Given the description of an element on the screen output the (x, y) to click on. 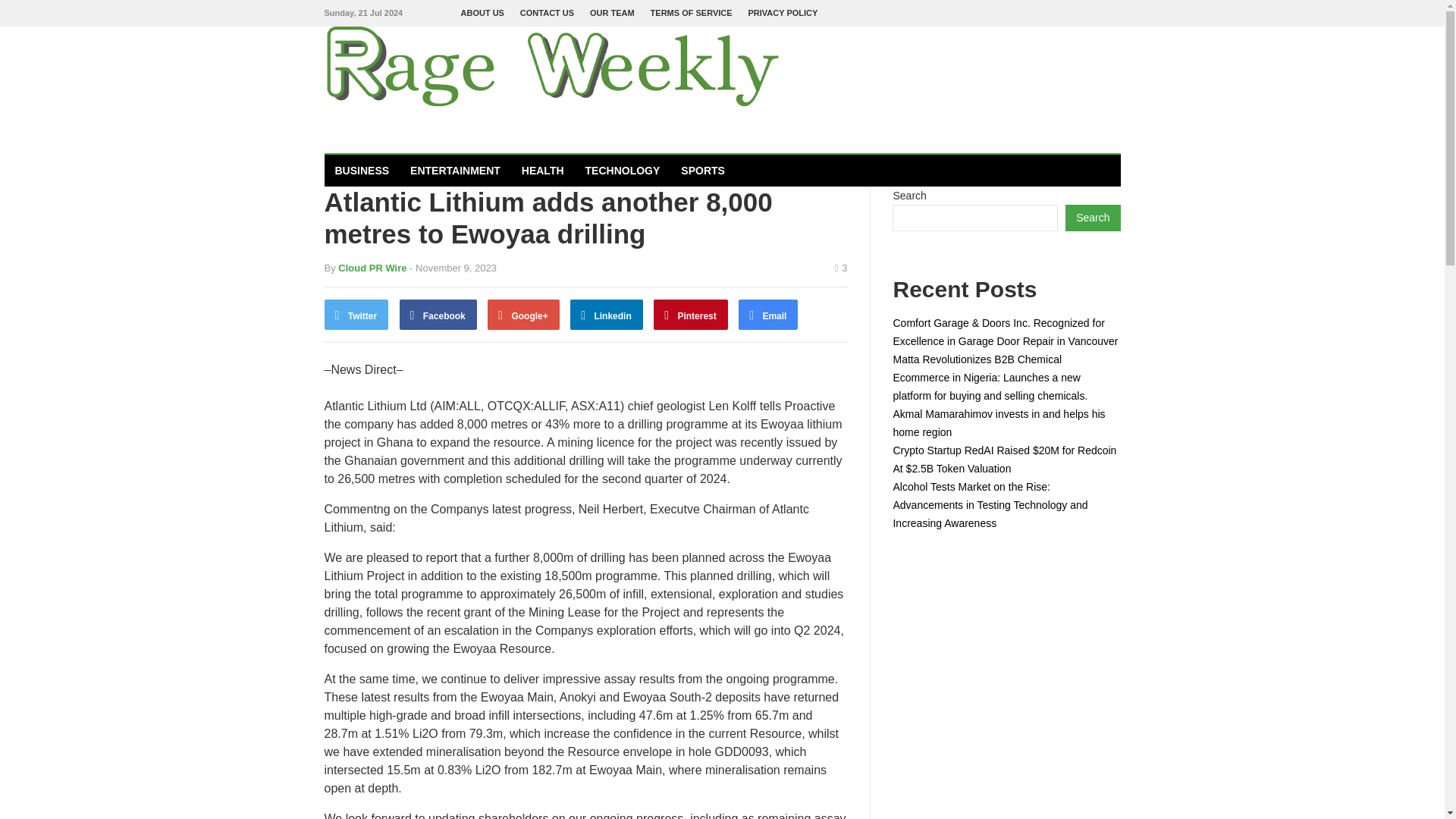
Email (767, 314)
PRIVACY POLICY (782, 13)
TECHNOLOGY (623, 170)
Thursday, November 9, 2023, 6:04 am (452, 267)
HEALTH (543, 170)
Facebook (437, 314)
Cloud PR Wire (371, 267)
ENTERTAINMENT (454, 170)
OUR TEAM (611, 13)
SPORTS (702, 170)
ABOUT US (482, 13)
Pinterest (690, 314)
Twitter (356, 314)
BUSINESS (362, 170)
TERMS OF SERVICE (691, 13)
